Given the description of an element on the screen output the (x, y) to click on. 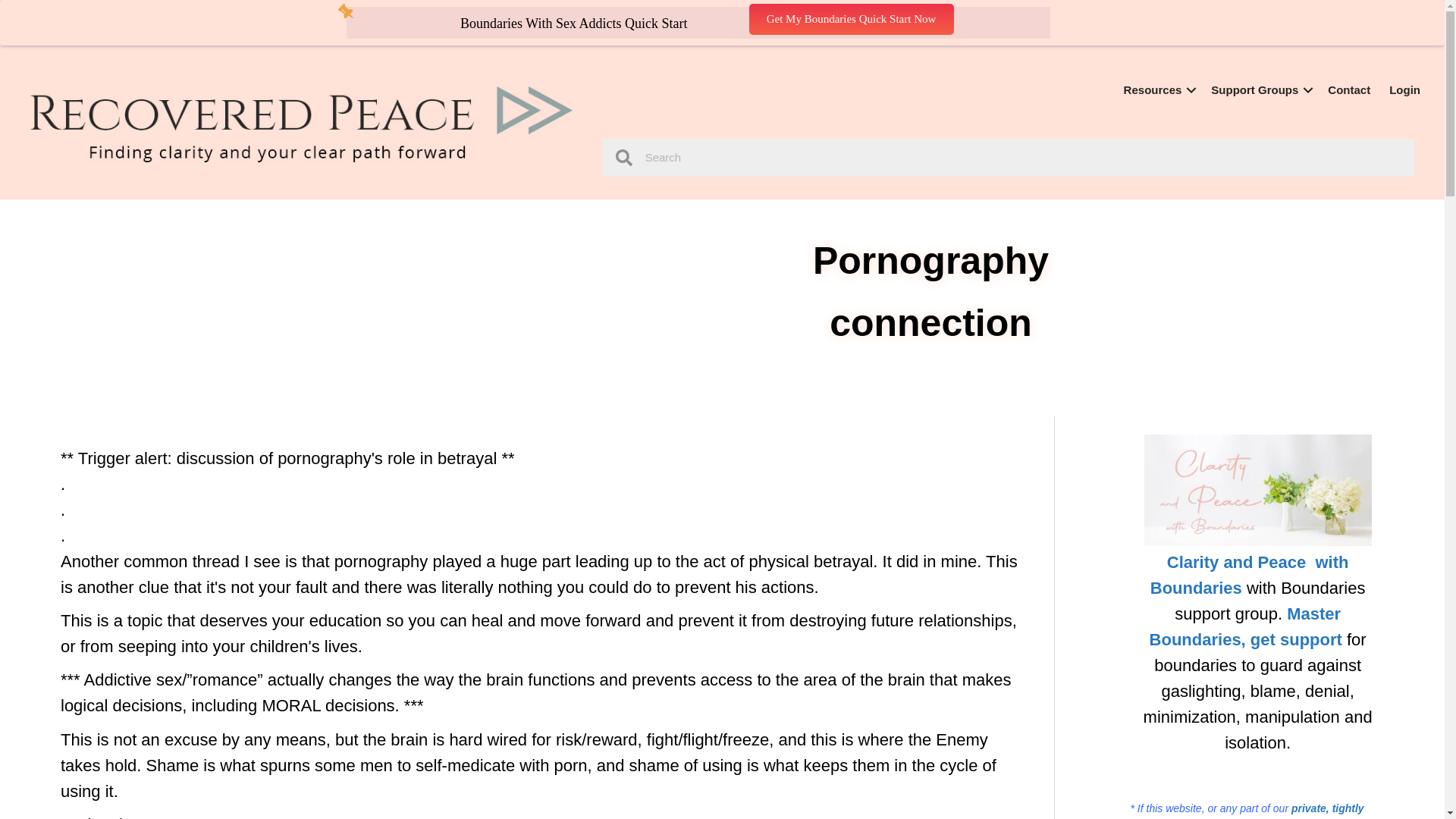
Master Boundaries, get support (1246, 626)
Search (1022, 157)
Clarity and Peace  with Boundaries (1249, 574)
Support Groups (1259, 89)
private, tightly moderated Facebook Group (1245, 810)
Contact (1348, 89)
Login (1404, 89)
Resources (1158, 89)
logo2 (301, 124)
